Given the description of an element on the screen output the (x, y) to click on. 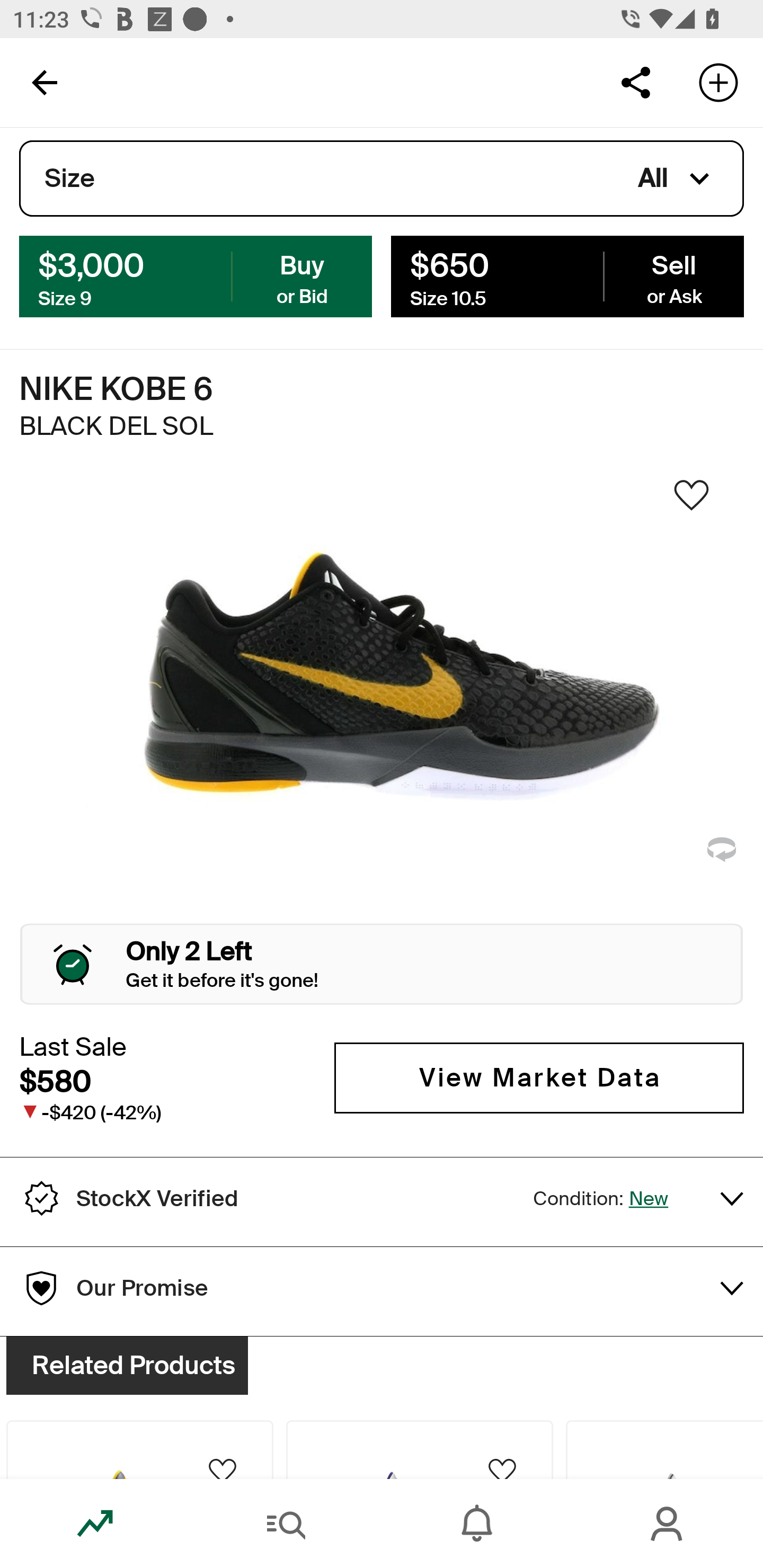
Share (635, 81)
Add (718, 81)
Size All (381, 178)
$238 Buy Size 5 or Bid (195, 275)
$469 Sell Size 12 or Ask (566, 275)
Sneaker Image (381, 699)
View Market Data (538, 1077)
Search (285, 1523)
Inbox (476, 1523)
Account (667, 1523)
